Given the description of an element on the screen output the (x, y) to click on. 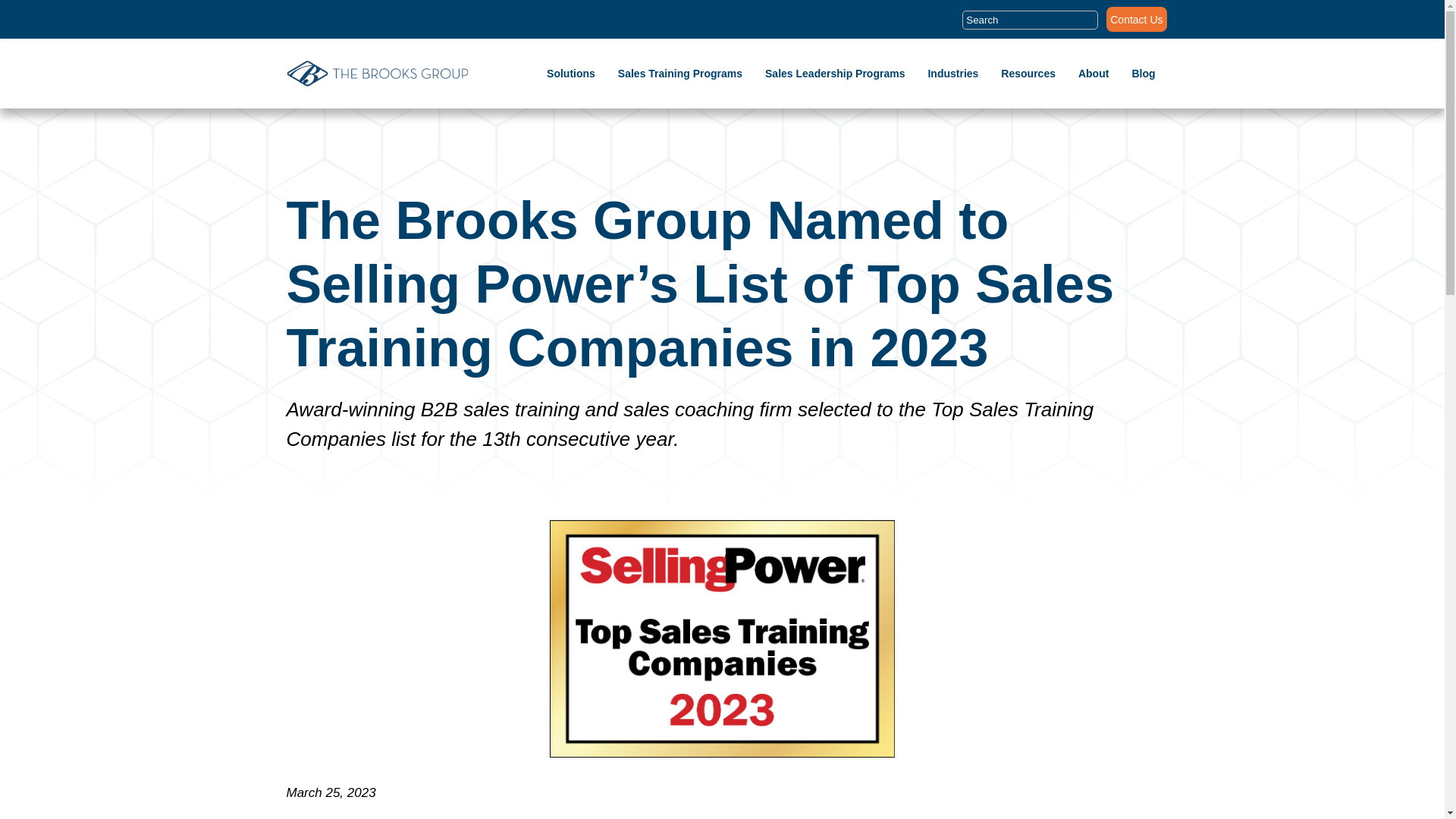
Sales Leadership Programs (834, 73)
Search for: (1029, 25)
2023 logo (721, 638)
Contact Us (1135, 22)
Sales Training Programs (679, 73)
